Given the description of an element on the screen output the (x, y) to click on. 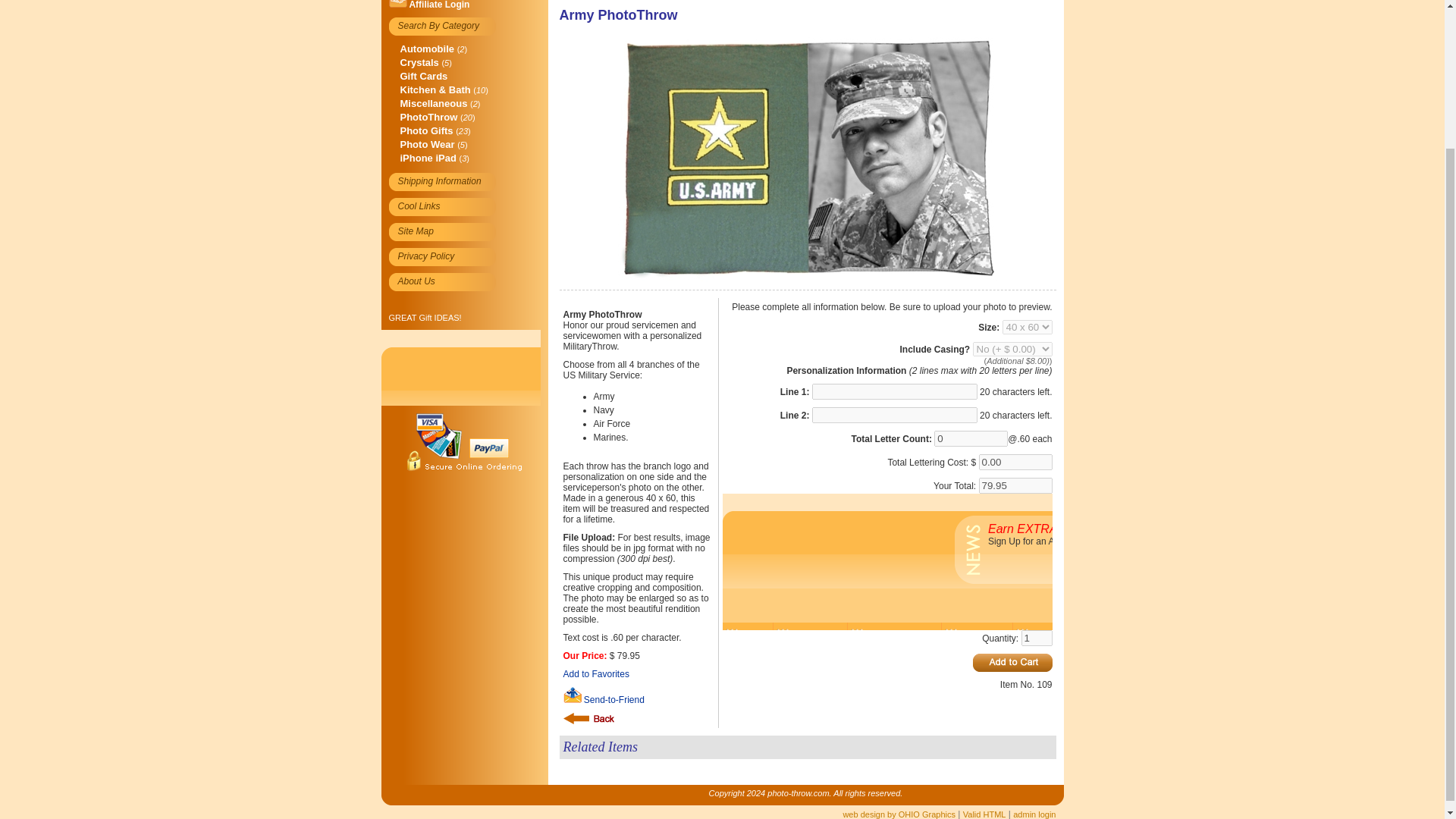
79.95 (1014, 485)
1 (1035, 637)
PhotoThrow (429, 116)
Automobile (427, 48)
0 (970, 438)
Miscellaneous (433, 102)
Add To Cart (1011, 662)
Affiliate Login (438, 4)
Gift Cards (424, 75)
Crystals (419, 61)
0.00 (1014, 462)
